Given the description of an element on the screen output the (x, y) to click on. 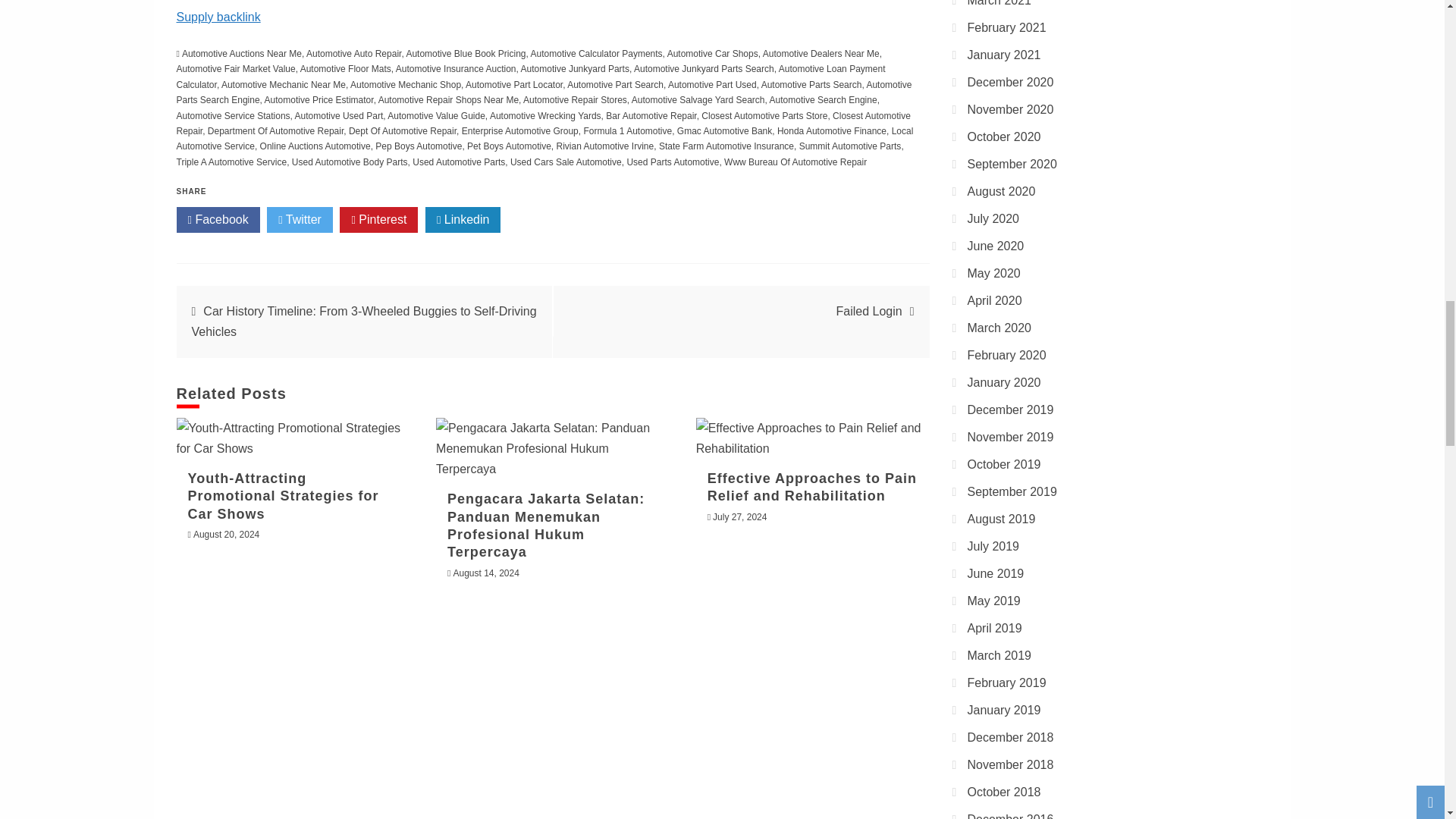
Automotive Auto Repair (353, 53)
Automotive Floor Mats (345, 68)
Automotive Car Shops (712, 53)
Automotive Dealers Near Me (820, 53)
Supply backlink (218, 16)
Automotive Insurance Auction (456, 68)
Youth-Attracting Promotional Strategies for Car Shows (292, 437)
Automotive Auctions Near Me (241, 53)
Automotive Fair Market Value (235, 68)
Automotive Calculator Payments (596, 53)
